Given the description of an element on the screen output the (x, y) to click on. 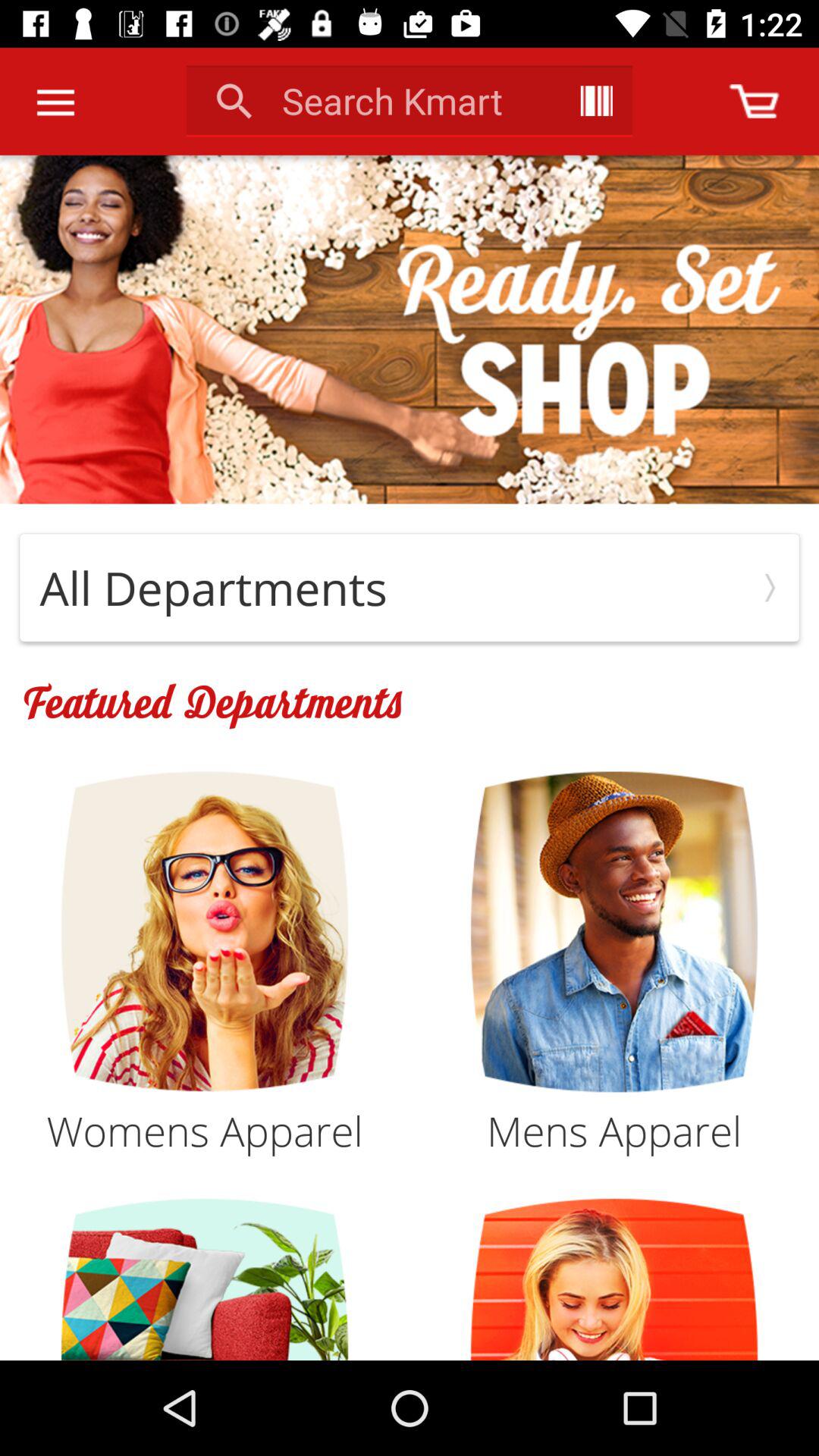
click item next to search kmart item (596, 100)
